Given the description of an element on the screen output the (x, y) to click on. 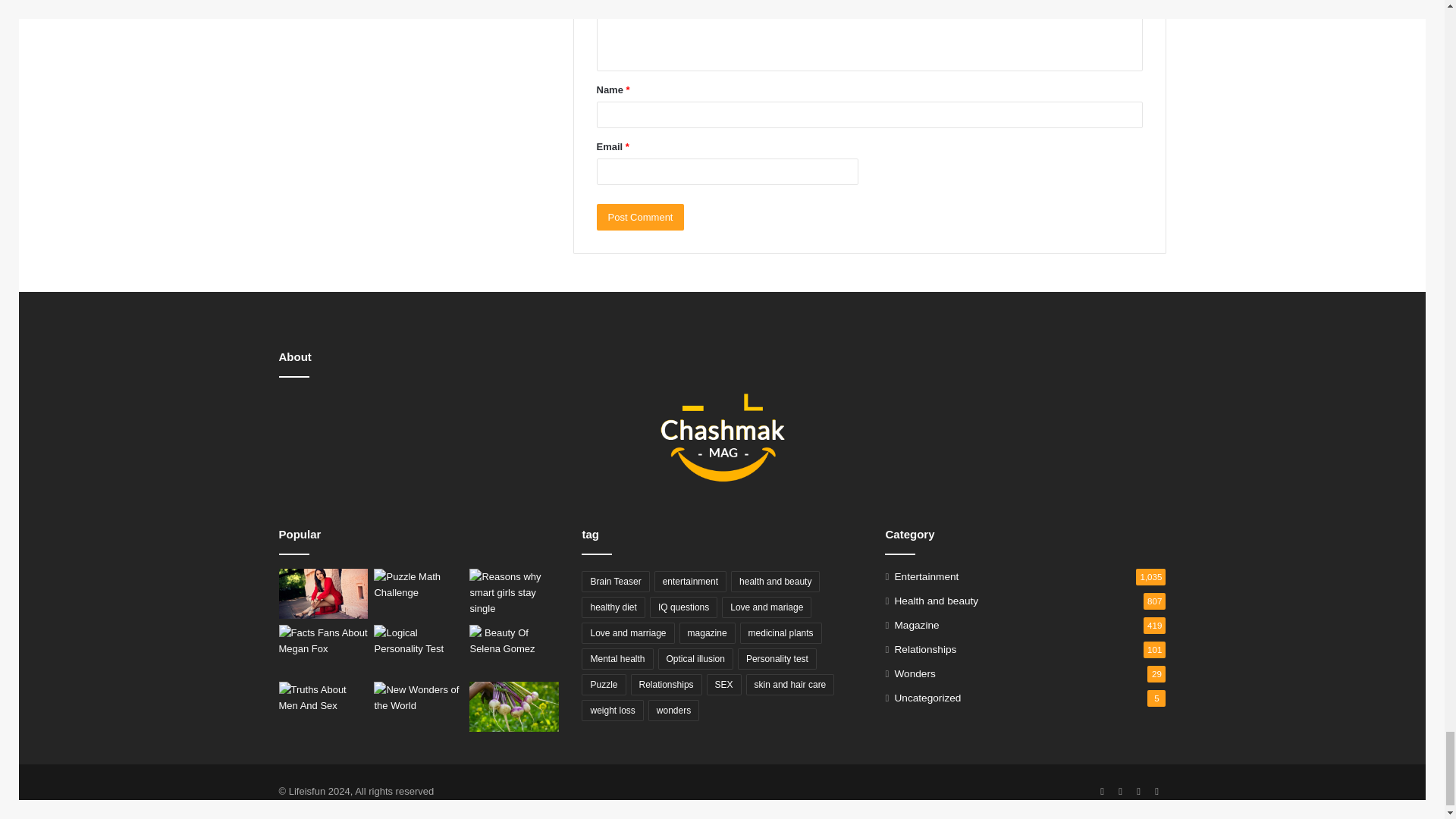
Post Comment (639, 216)
